Given the description of an element on the screen output the (x, y) to click on. 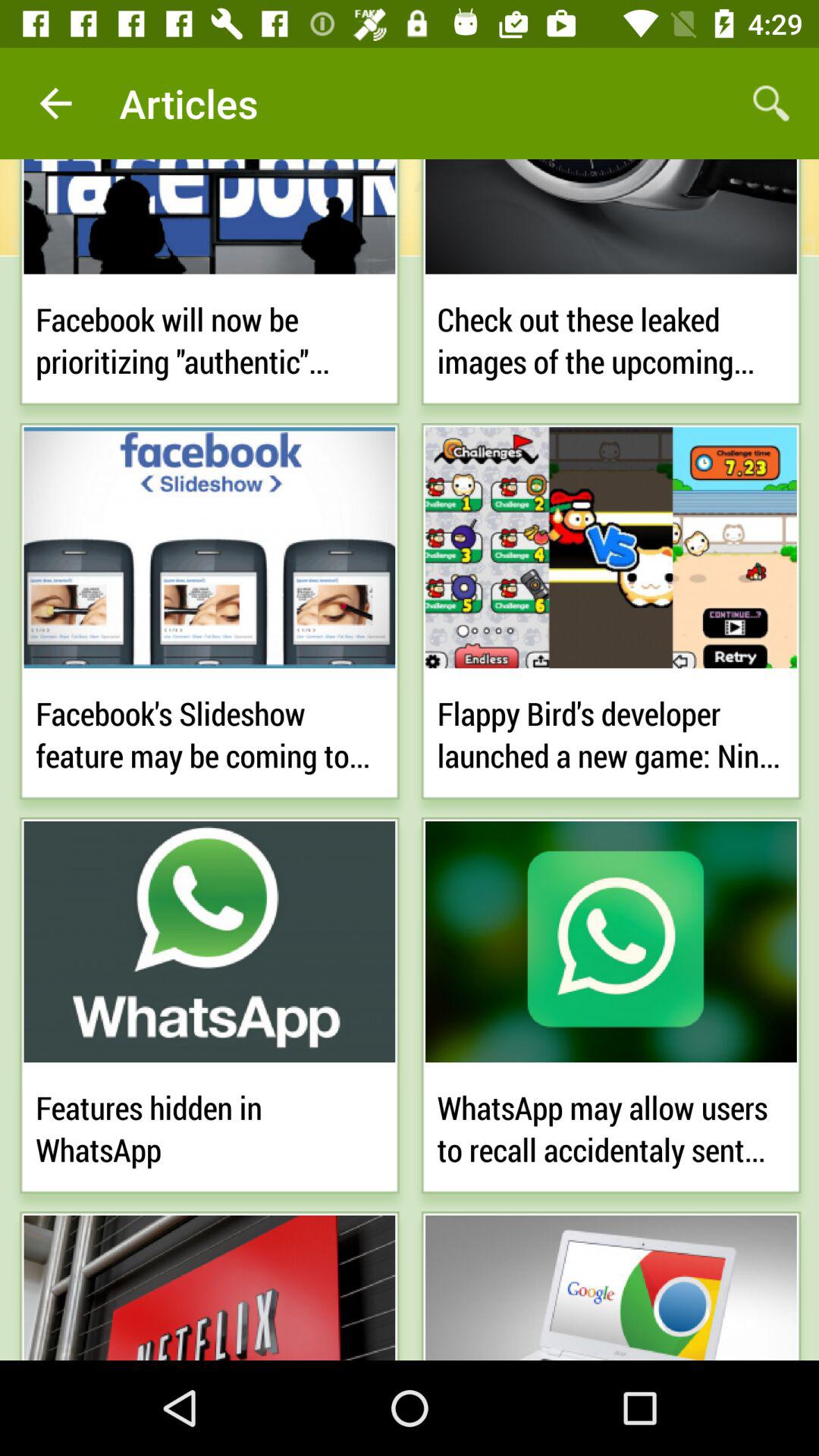
turn on app next to the articles item (55, 103)
